Given the description of an element on the screen output the (x, y) to click on. 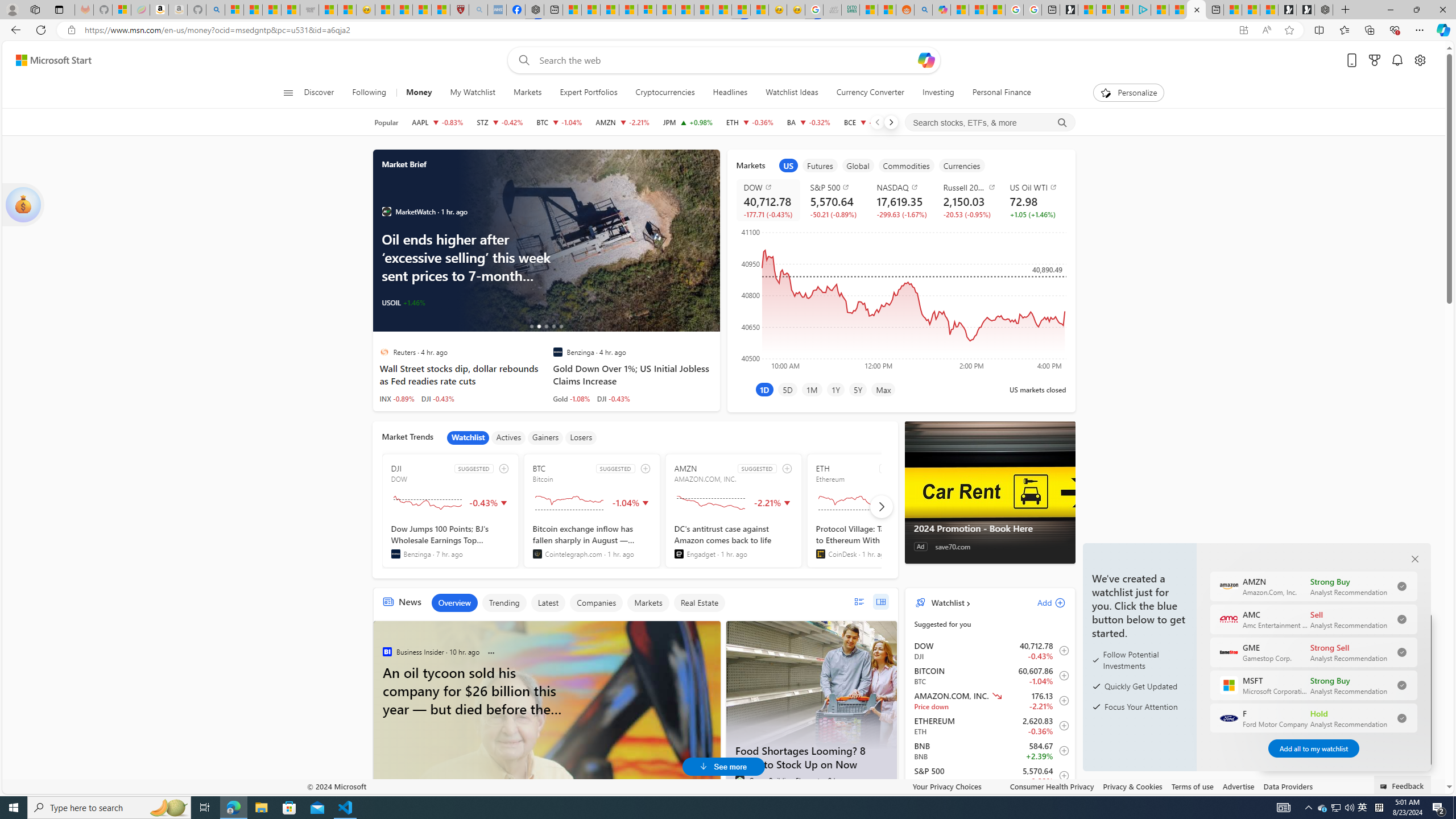
14 Common Myths Debunked By Scientific Facts (702, 9)
item4 (905, 164)
Science - MSN (421, 9)
S&P 500 (836, 187)
NCL Adult Asthma Inhaler Choice Guideline - Sleeping (497, 9)
Navy Quest (831, 9)
1M (811, 389)
Markets (647, 602)
